Given the description of an element on the screen output the (x, y) to click on. 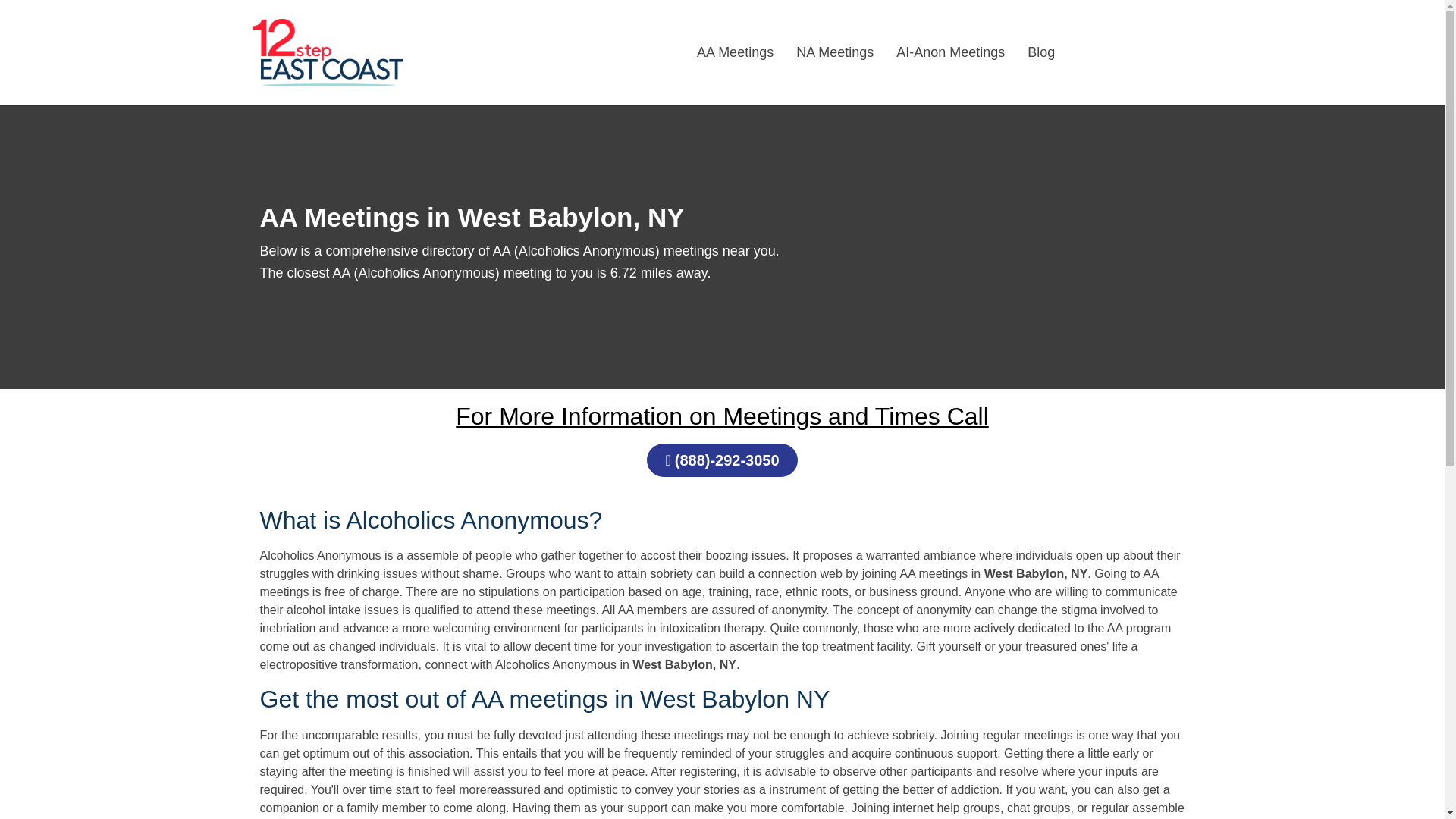
NA Meetings (834, 52)
AI-Anon Meetings (950, 52)
AA Meetings (734, 52)
Blog (1040, 52)
